Given the description of an element on the screen output the (x, y) to click on. 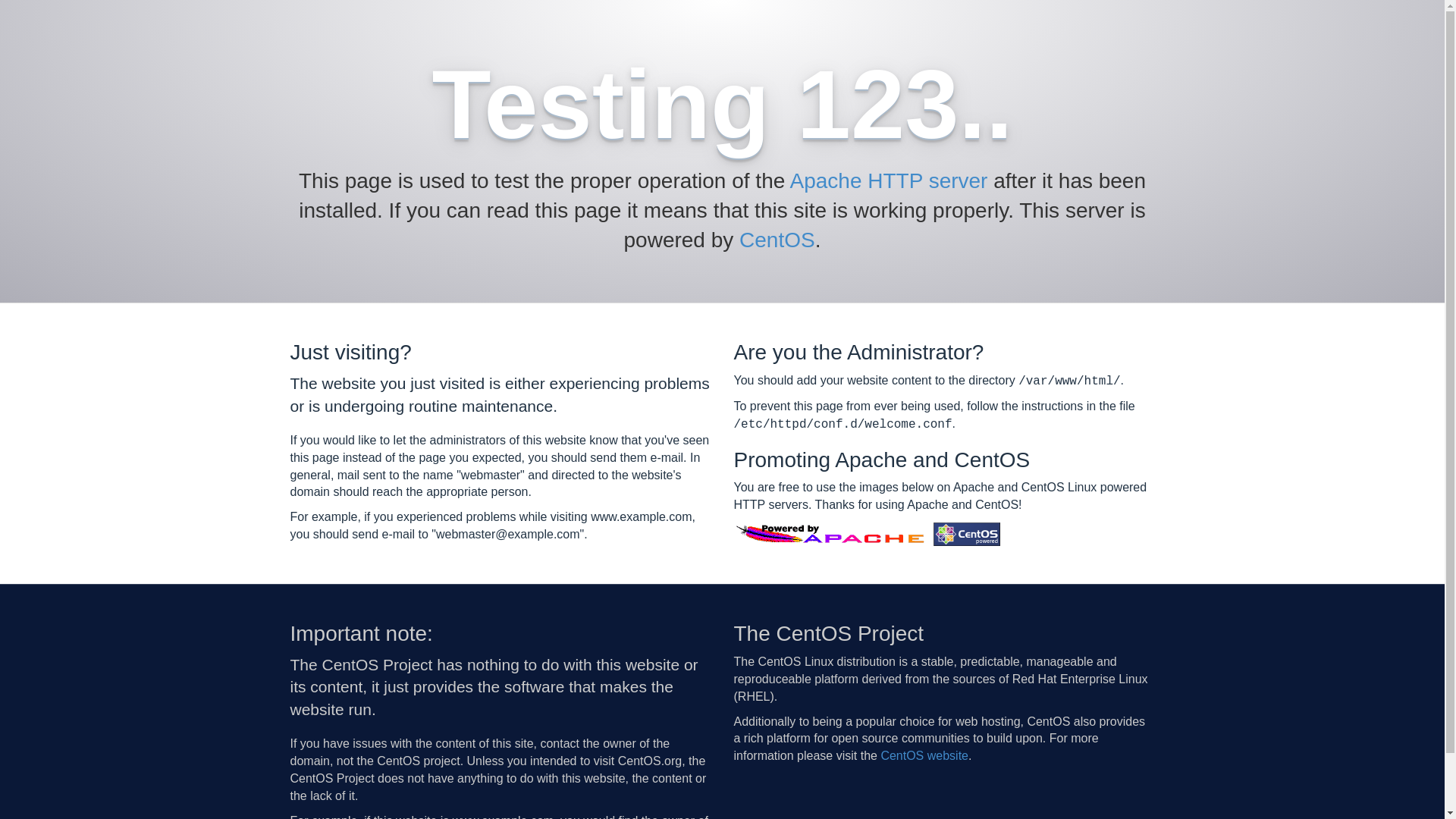
CentOS Element type: text (777, 239)
CentOS website Element type: text (924, 755)
Apache HTTP server Element type: text (889, 180)
